Given the description of an element on the screen output the (x, y) to click on. 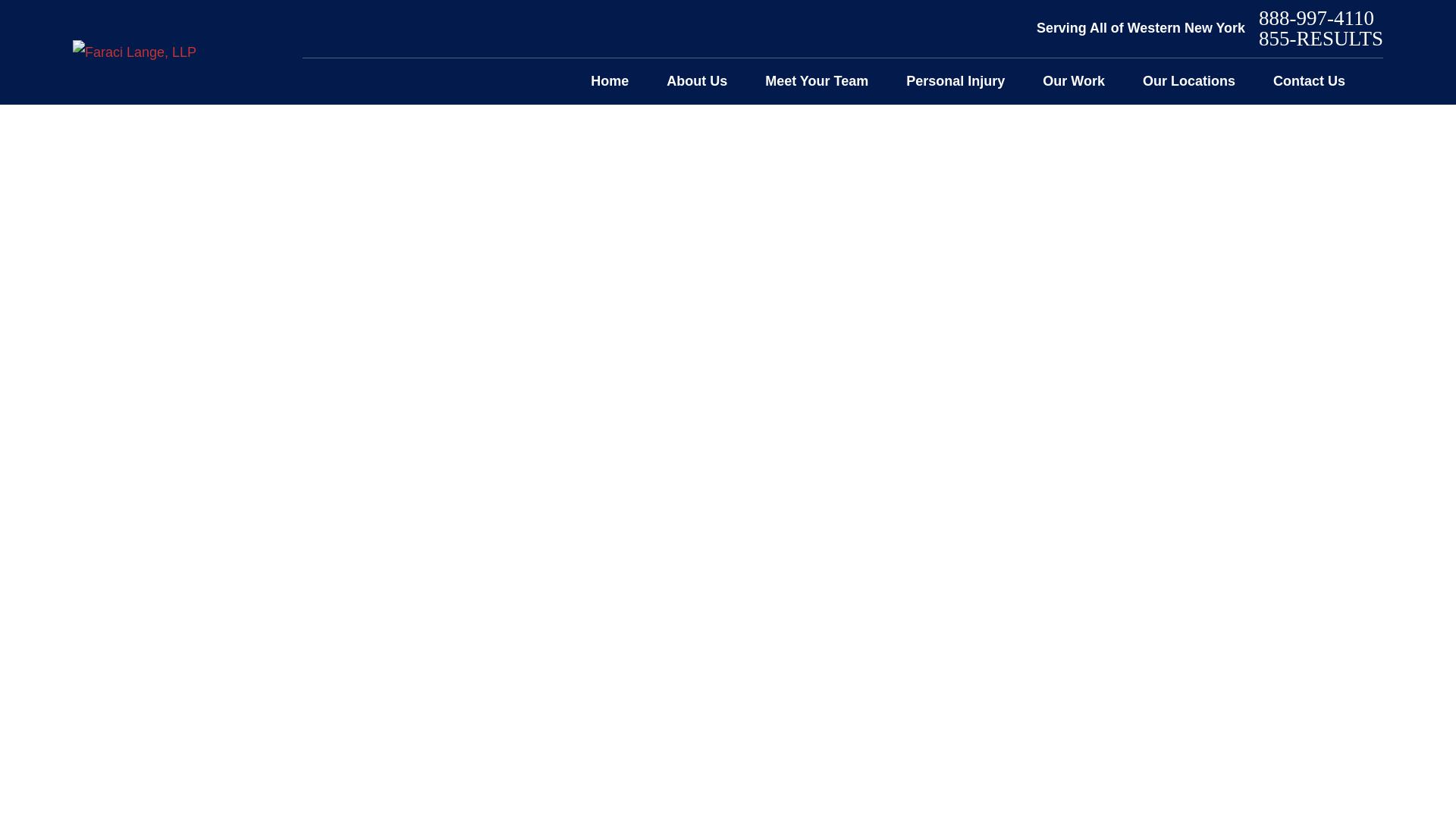
Home (134, 51)
Meet Your Team (816, 81)
Home (609, 81)
855-RESULTS (1321, 38)
888-997-4110 (1321, 18)
About Us (696, 81)
Personal Injury (954, 81)
